Given the description of an element on the screen output the (x, y) to click on. 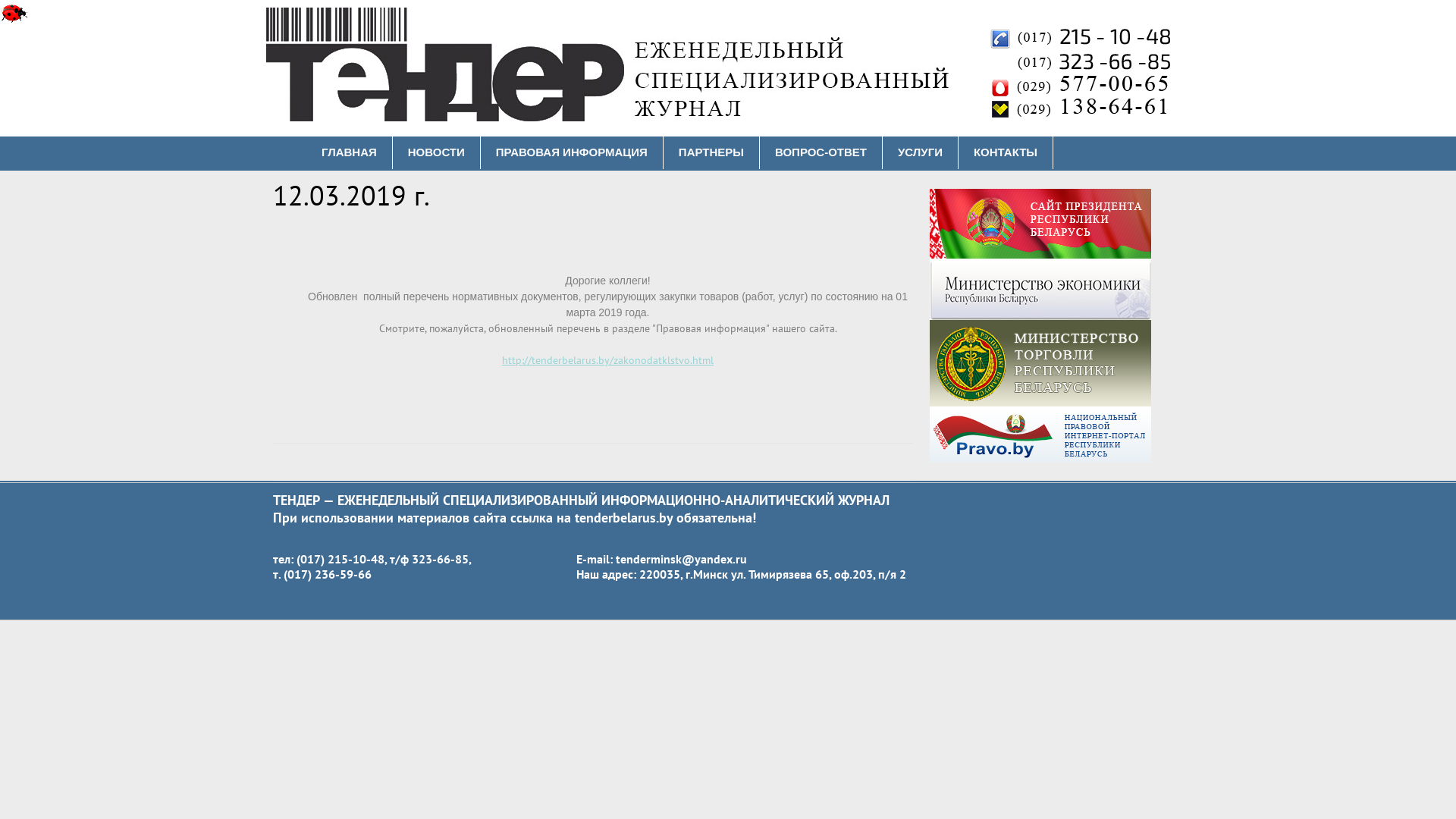
http://tenderbelarus.by/zakonodatklstvo.html Element type: text (607, 360)
